Given the description of an element on the screen output the (x, y) to click on. 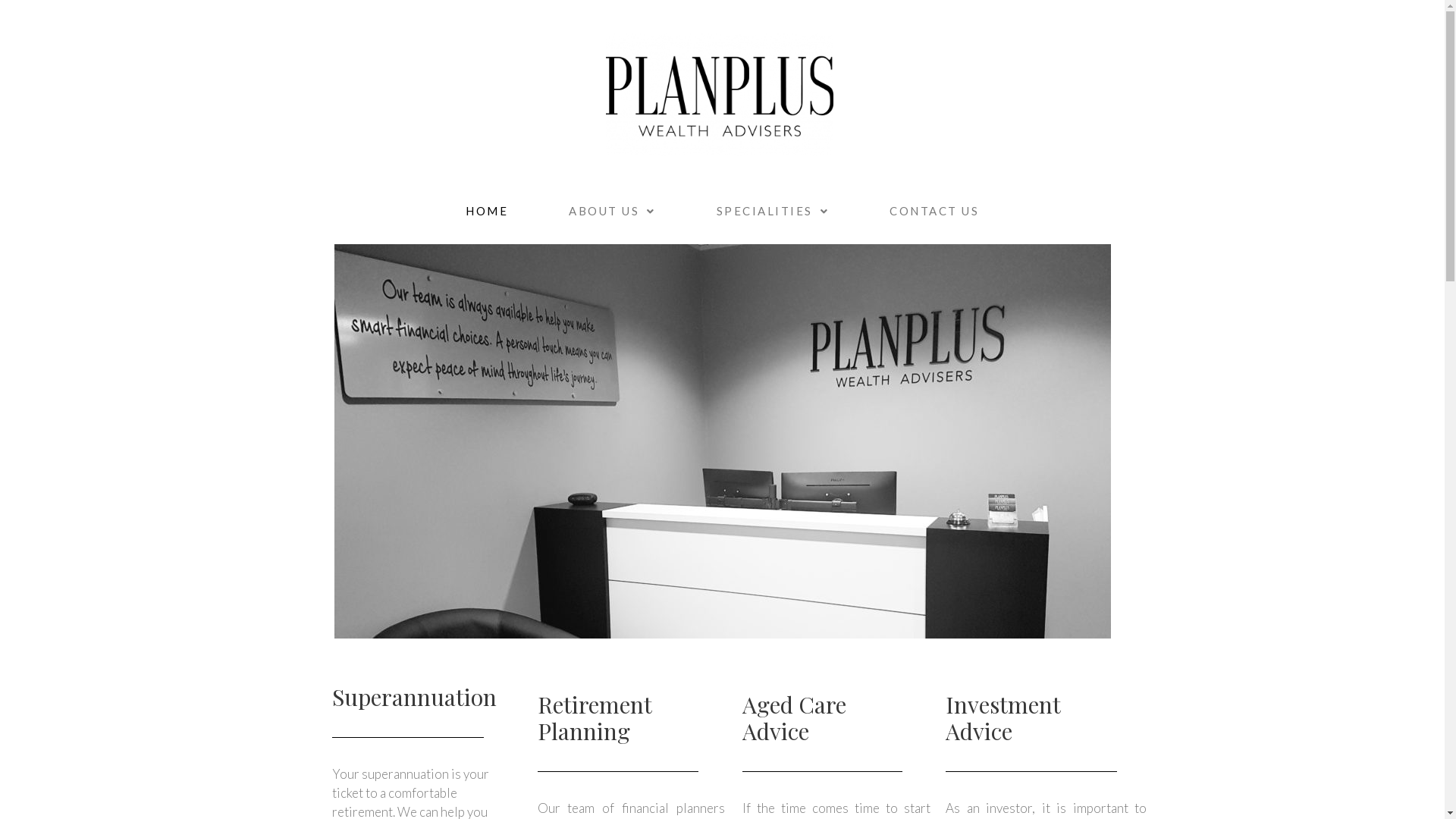
SPECIALITIES Element type: text (772, 211)
HOME Element type: text (486, 211)
CONTACT US Element type: text (934, 211)
ABOUT US Element type: text (612, 211)
